Given the description of an element on the screen output the (x, y) to click on. 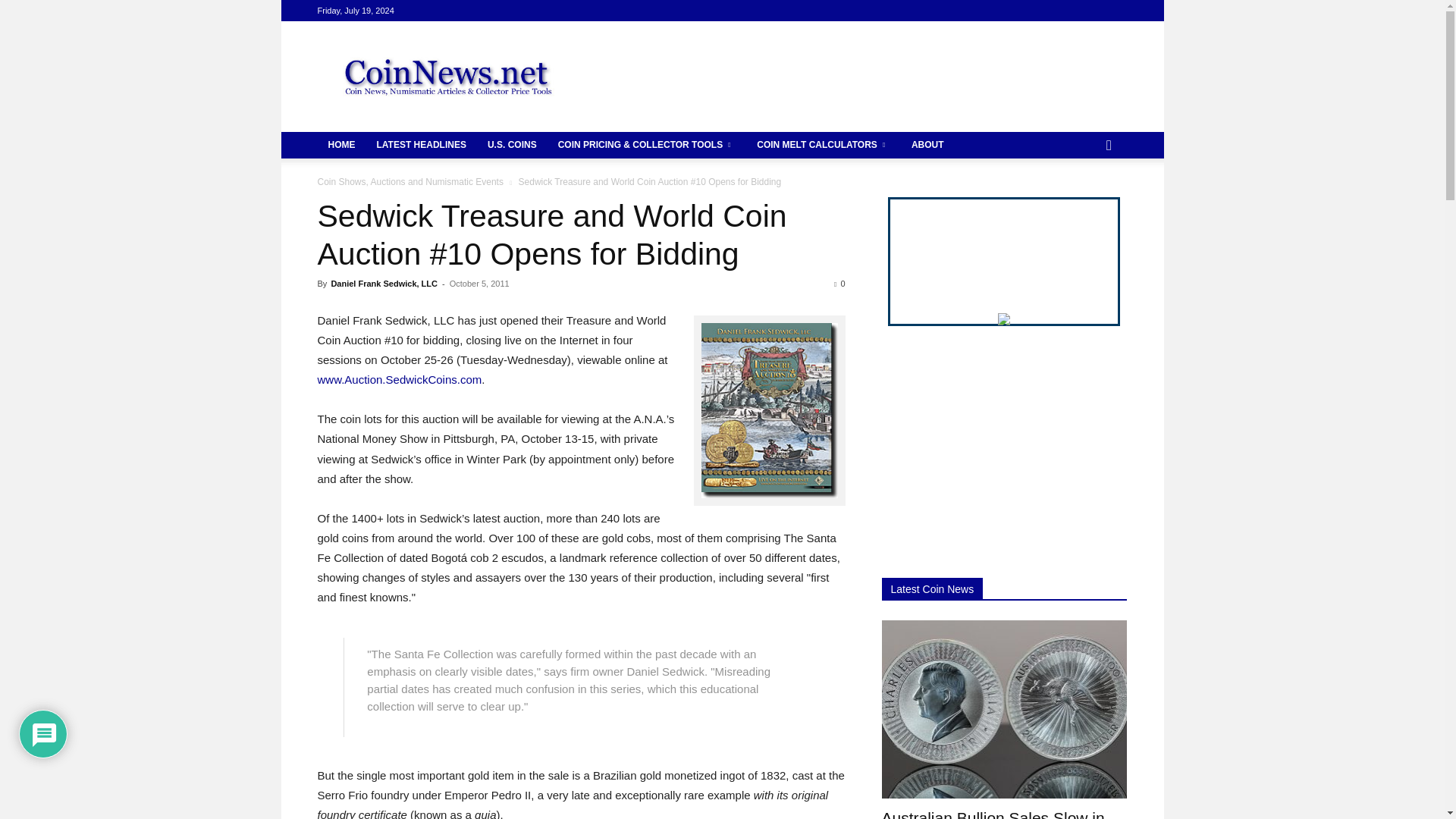
HOME (341, 144)
LATEST HEADLINES (420, 144)
COIN MELT CALCULATORS (823, 144)
U.S. COINS (512, 144)
